Given the description of an element on the screen output the (x, y) to click on. 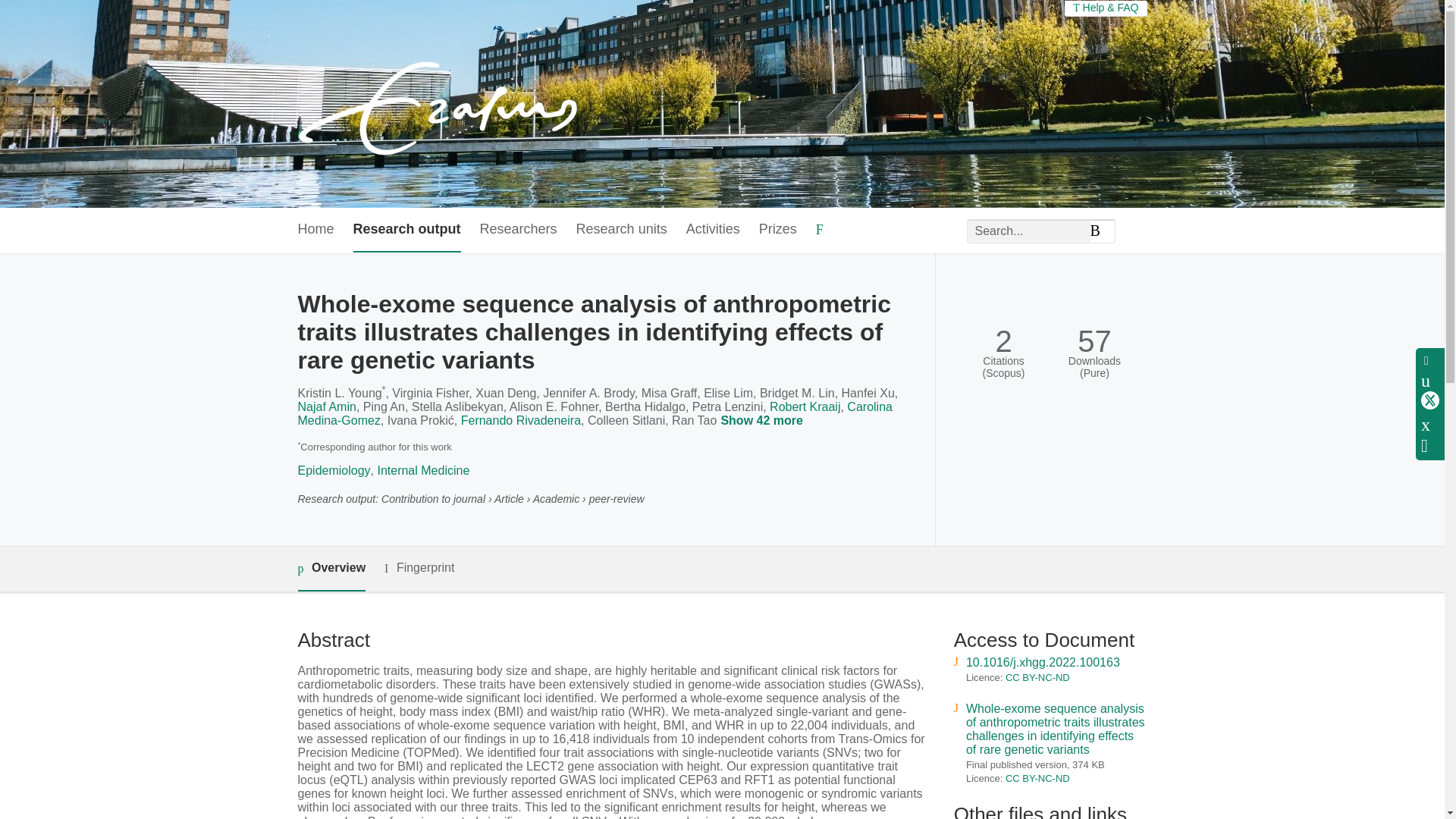
Research units (621, 230)
Fingerprint (419, 568)
Najaf Amin (326, 406)
Fernando Rivadeneira (520, 420)
Show 42 more (763, 421)
Erasmus University Rotterdam Home (441, 103)
Activities (712, 230)
CC BY-NC-ND (1038, 677)
CC BY-NC-ND (1038, 778)
Researchers (518, 230)
Research output (407, 230)
Overview (331, 569)
Robert Kraaij (805, 406)
